Given the description of an element on the screen output the (x, y) to click on. 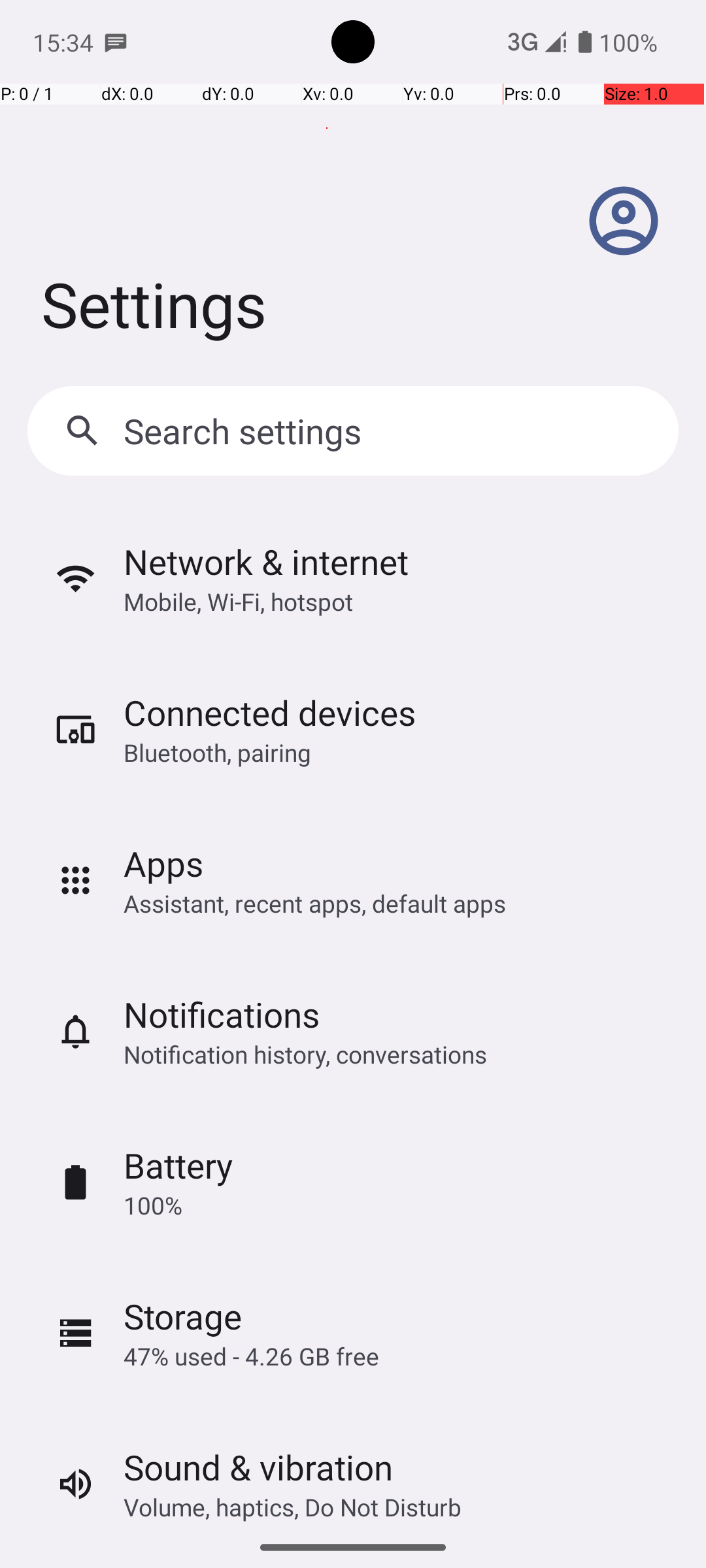
47% used - 4.26 GB free Element type: android.widget.TextView (251, 1355)
